Given the description of an element on the screen output the (x, y) to click on. 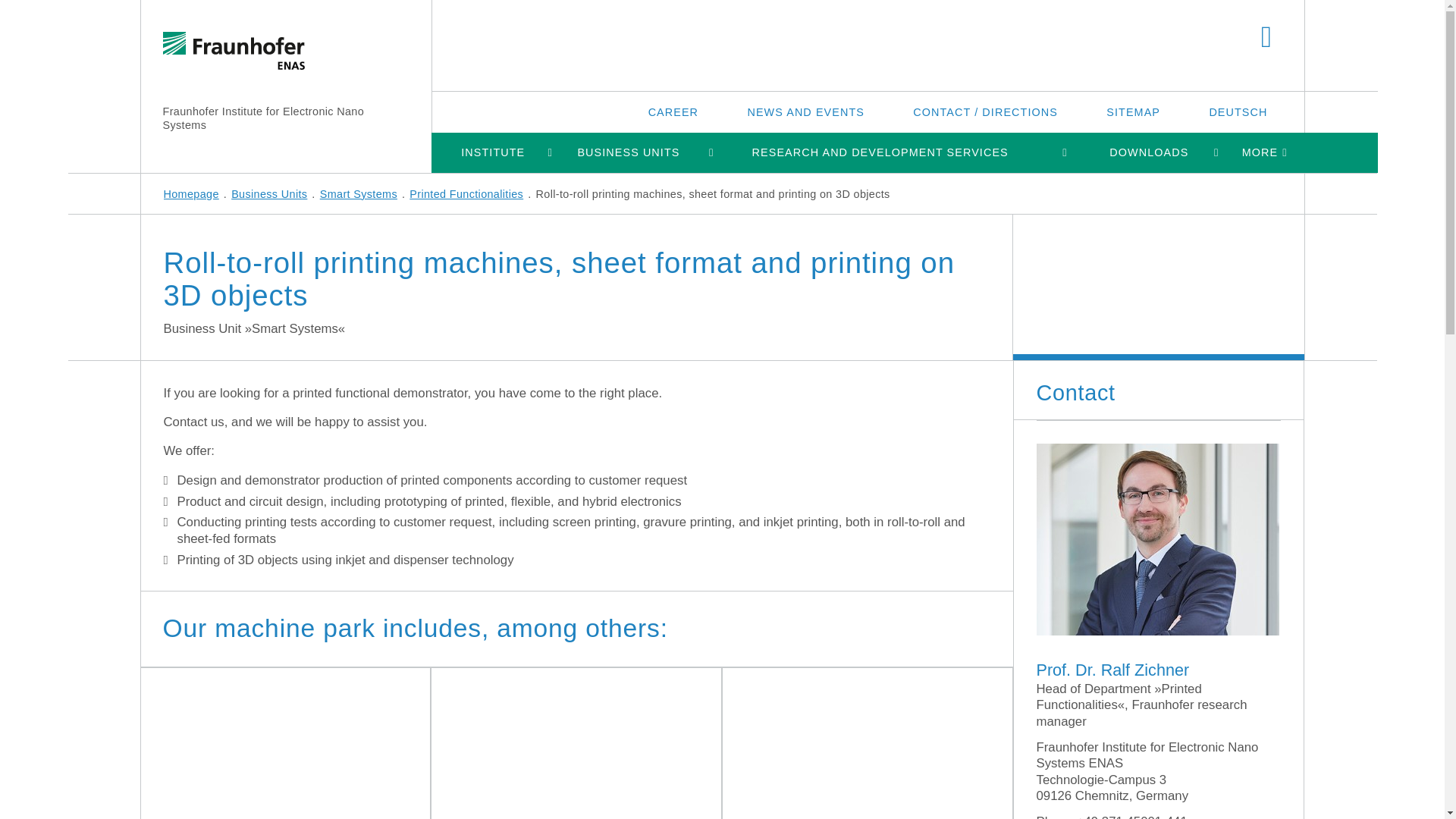
CAREER (673, 111)
SEARCH (1266, 37)
SITEMAP (1132, 111)
Fraunhofer Institute for Electronic Nano Systems (262, 118)
DEUTSCH (1238, 111)
NEWS AND EVENTS (804, 111)
